Given the description of an element on the screen output the (x, y) to click on. 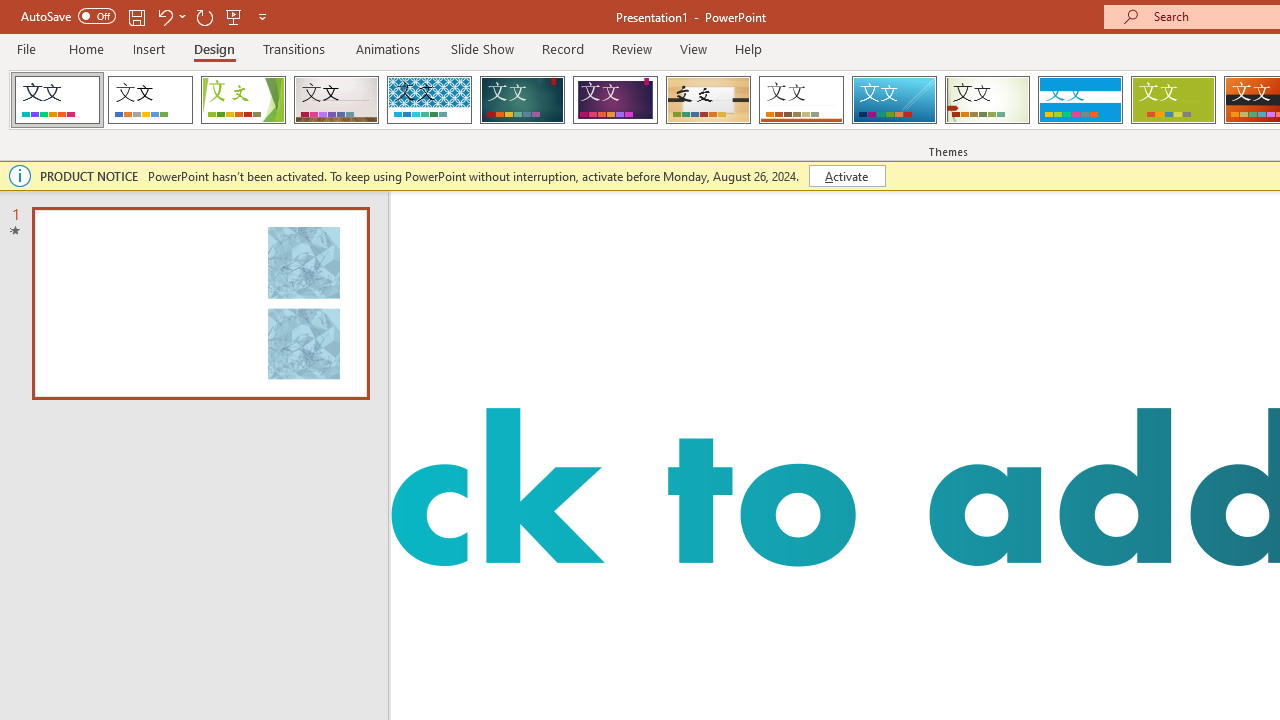
Wisp (987, 100)
Facet (243, 100)
Organic (708, 100)
Basis (1172, 100)
Ion Boardroom (615, 100)
FadeVTI (57, 100)
